Given the description of an element on the screen output the (x, y) to click on. 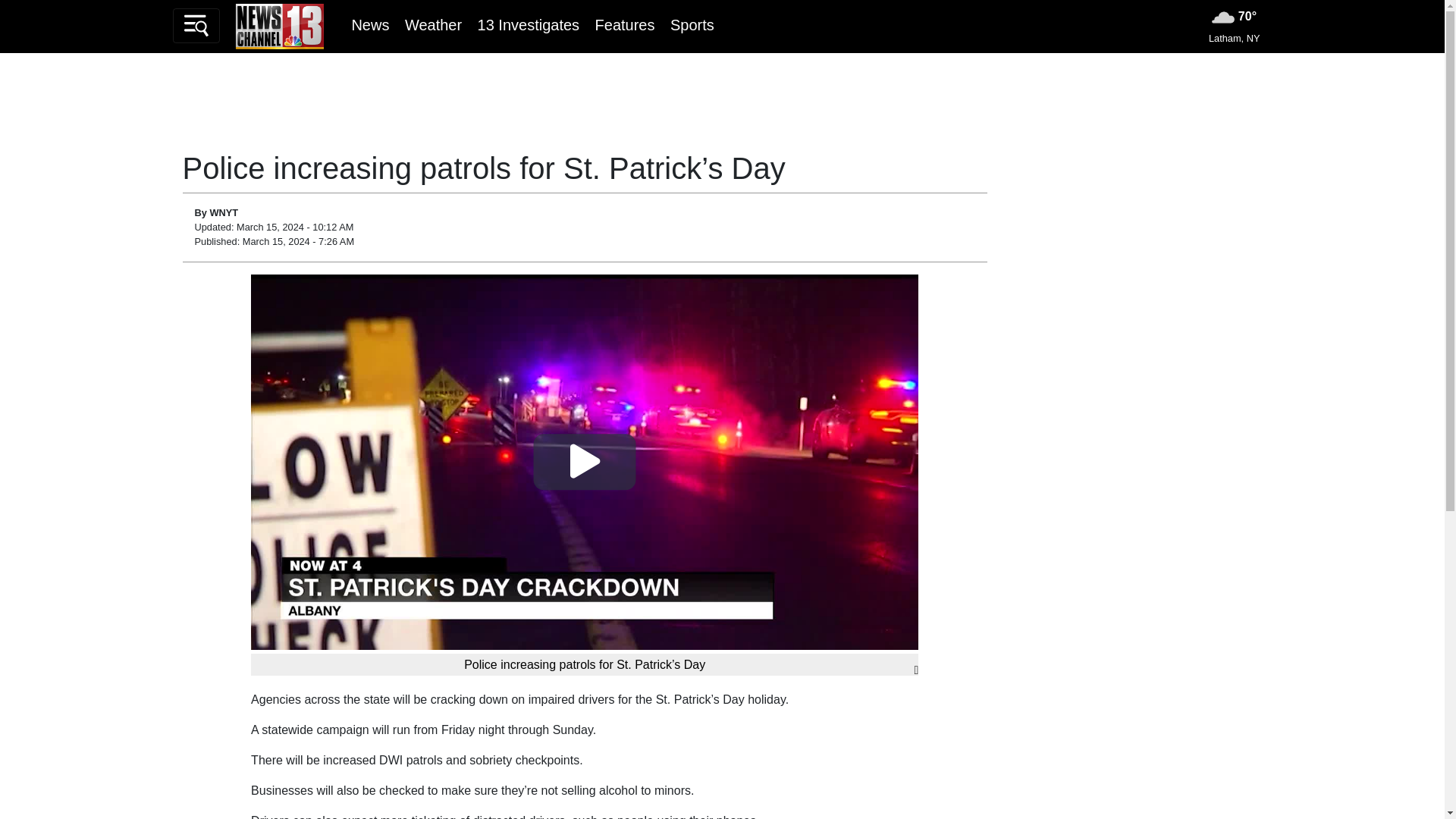
Features (625, 24)
Sports (691, 24)
Play Video (585, 461)
13 Investigates (528, 24)
Weather (432, 24)
News (369, 24)
